Given the description of an element on the screen output the (x, y) to click on. 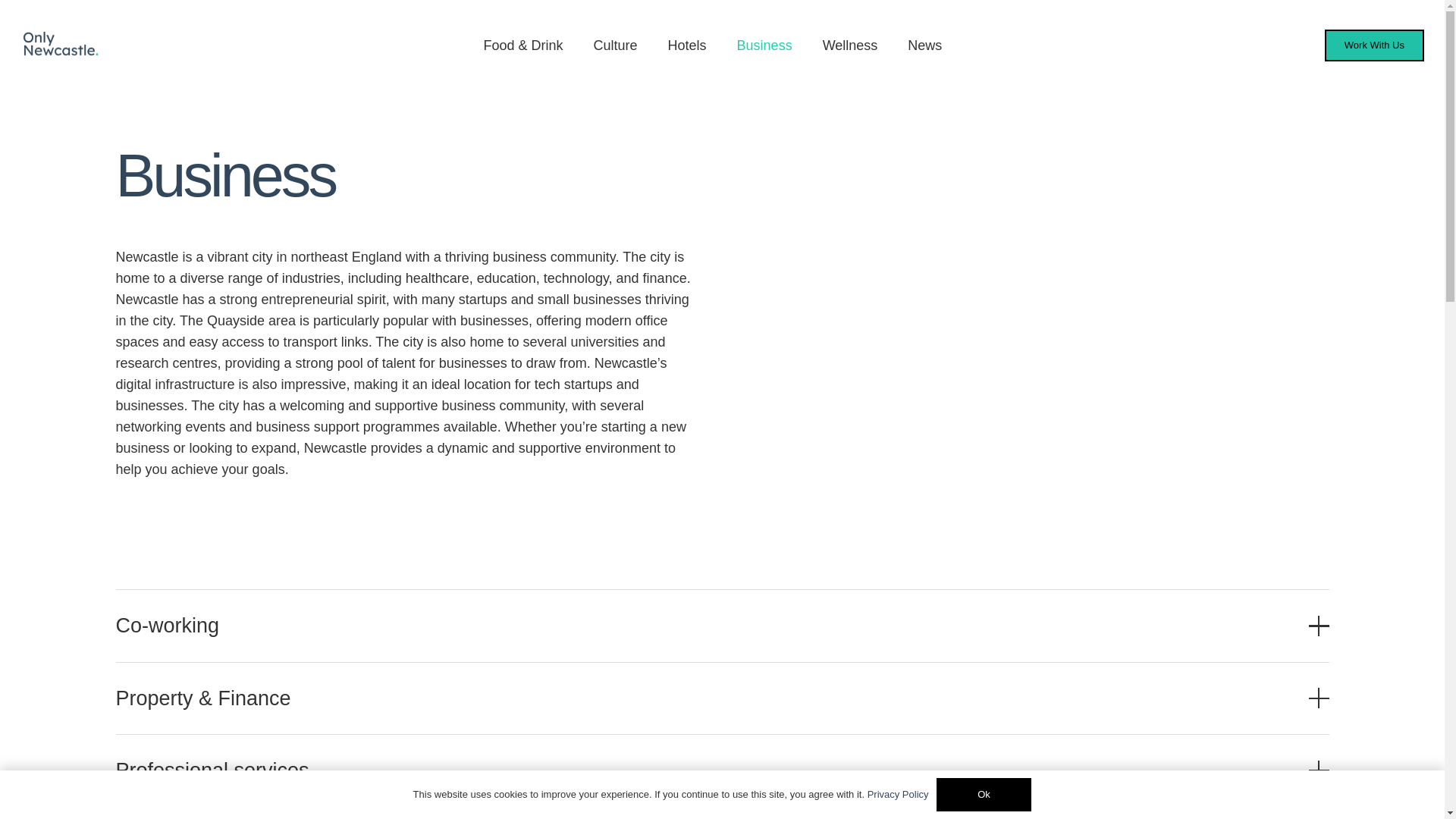
Instagram (1073, 561)
Culture (457, 590)
Co-working (721, 625)
Wellness (462, 681)
About Us (777, 620)
News (766, 559)
Business (765, 45)
Hotels (454, 620)
Facebook (1115, 561)
Wellness (850, 45)
Pricing (769, 590)
Professional services (721, 770)
Privacy Policy (791, 681)
Work With Us (790, 651)
YouTube (1157, 561)
